Given the description of an element on the screen output the (x, y) to click on. 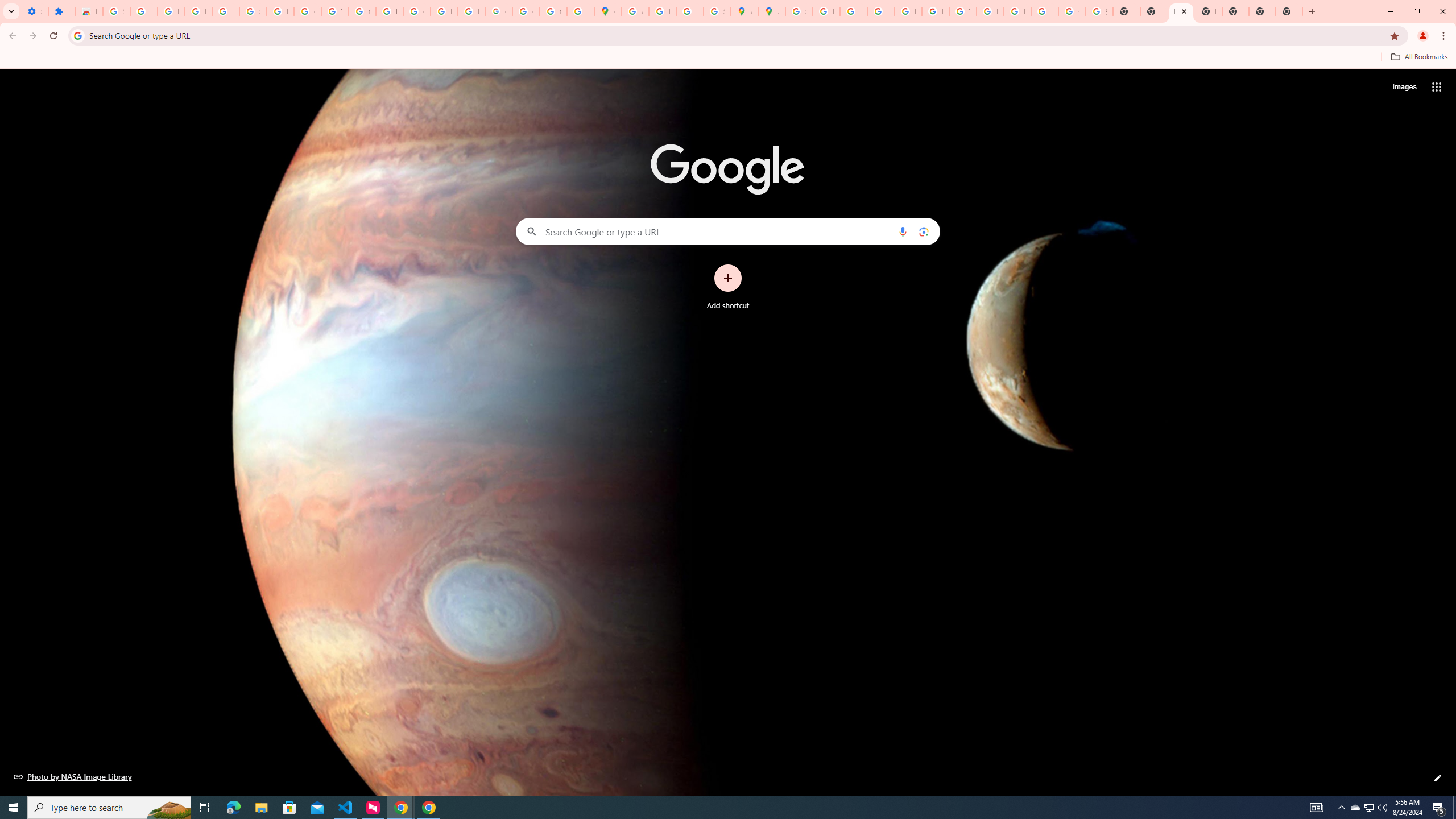
Add shortcut (727, 287)
Photo by NASA Image Library (72, 776)
Browse Chrome as a guest - Computer - Google Chrome Help (990, 11)
New Tab (1289, 11)
Privacy Help Center - Policies Help (853, 11)
Google Maps (607, 11)
New Tab (1262, 11)
